Given the description of an element on the screen output the (x, y) to click on. 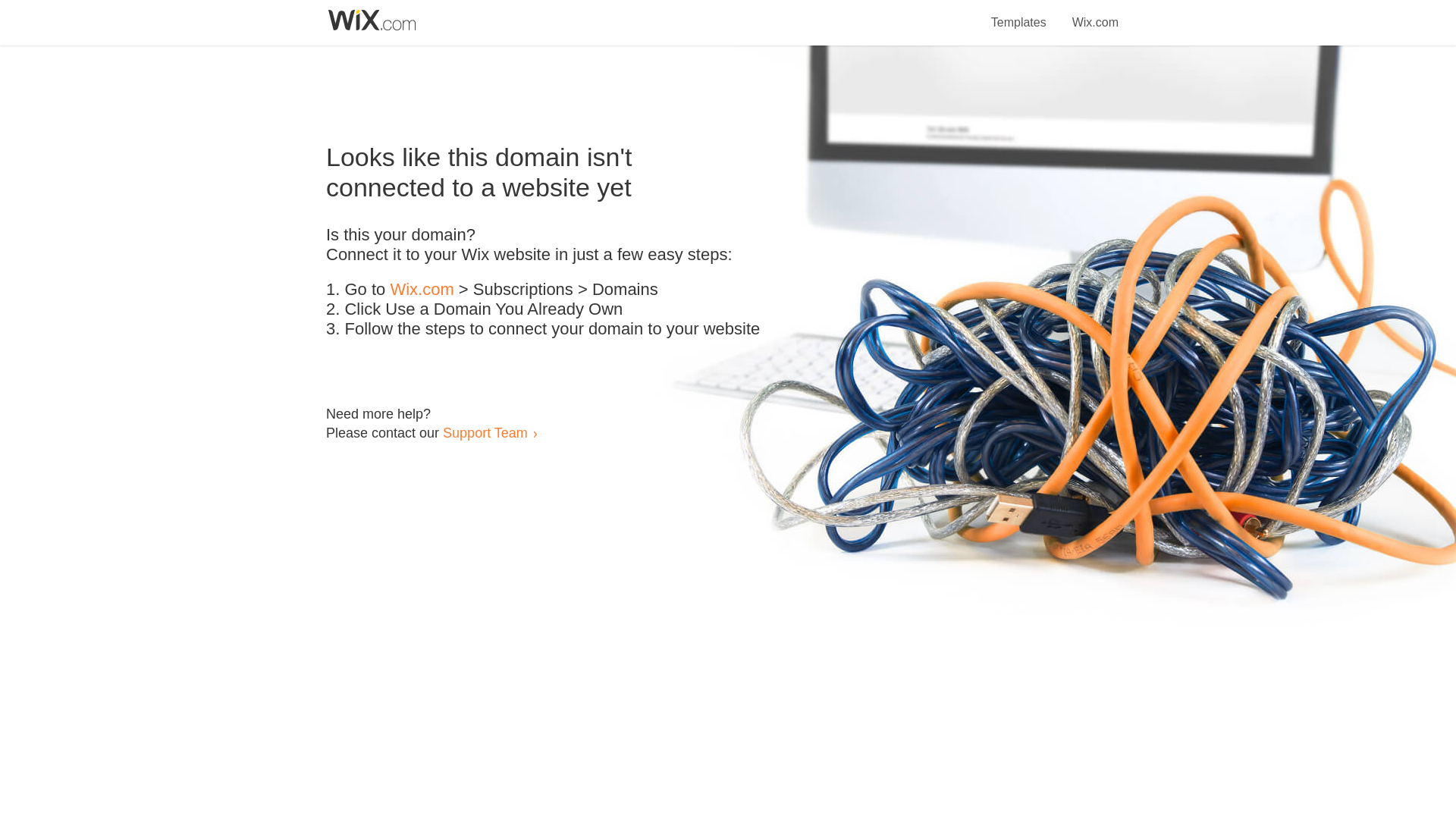
Wix.com (421, 289)
Wix.com (1095, 14)
Templates (1018, 14)
Support Team (484, 432)
